Given the description of an element on the screen output the (x, y) to click on. 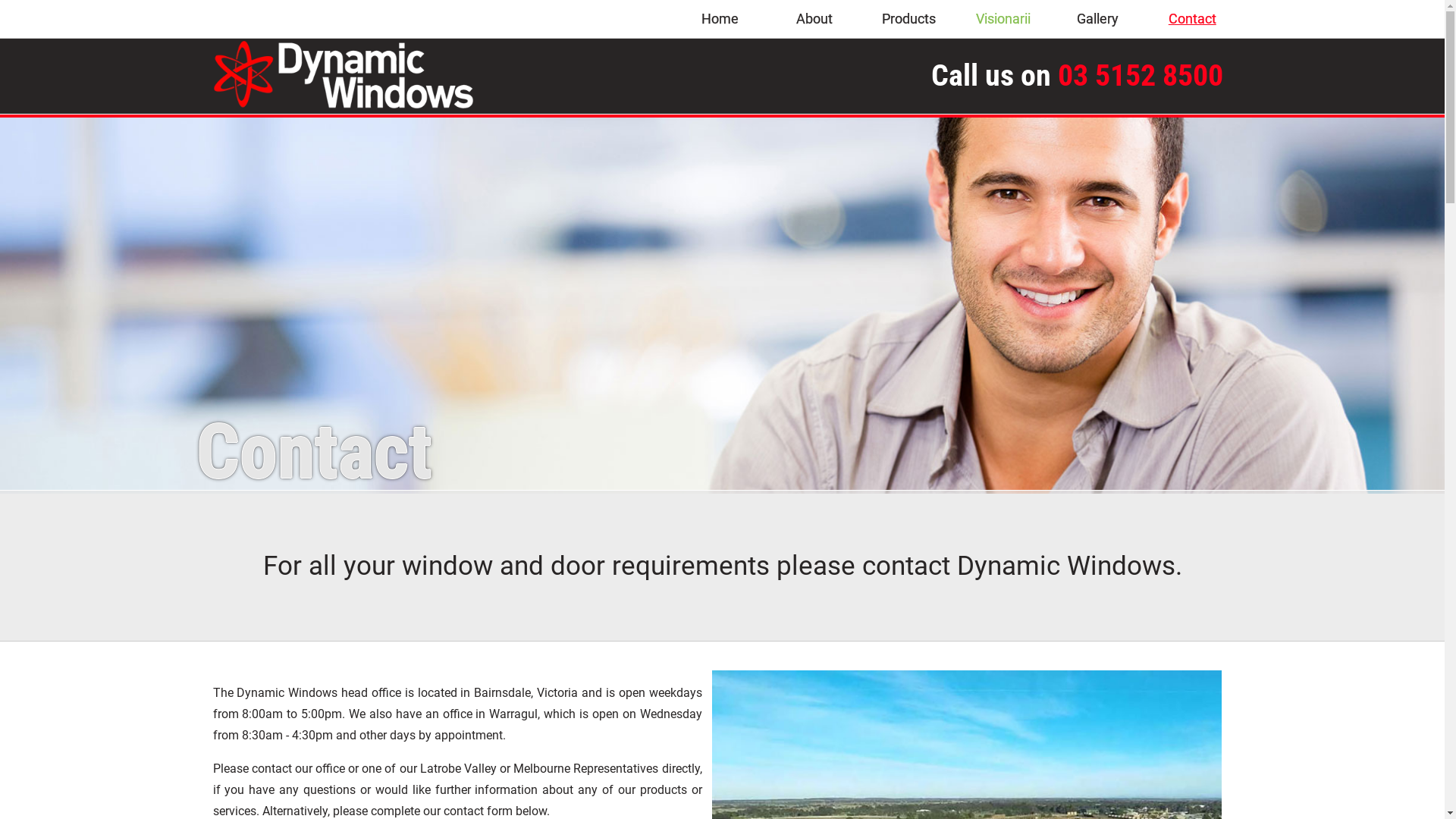
Products Element type: text (908, 18)
Contact Element type: text (1192, 18)
About Element type: text (814, 18)
Home Element type: text (720, 18)
Visionarii Element type: text (1003, 18)
Gallery Element type: text (1098, 18)
